Given the description of an element on the screen output the (x, y) to click on. 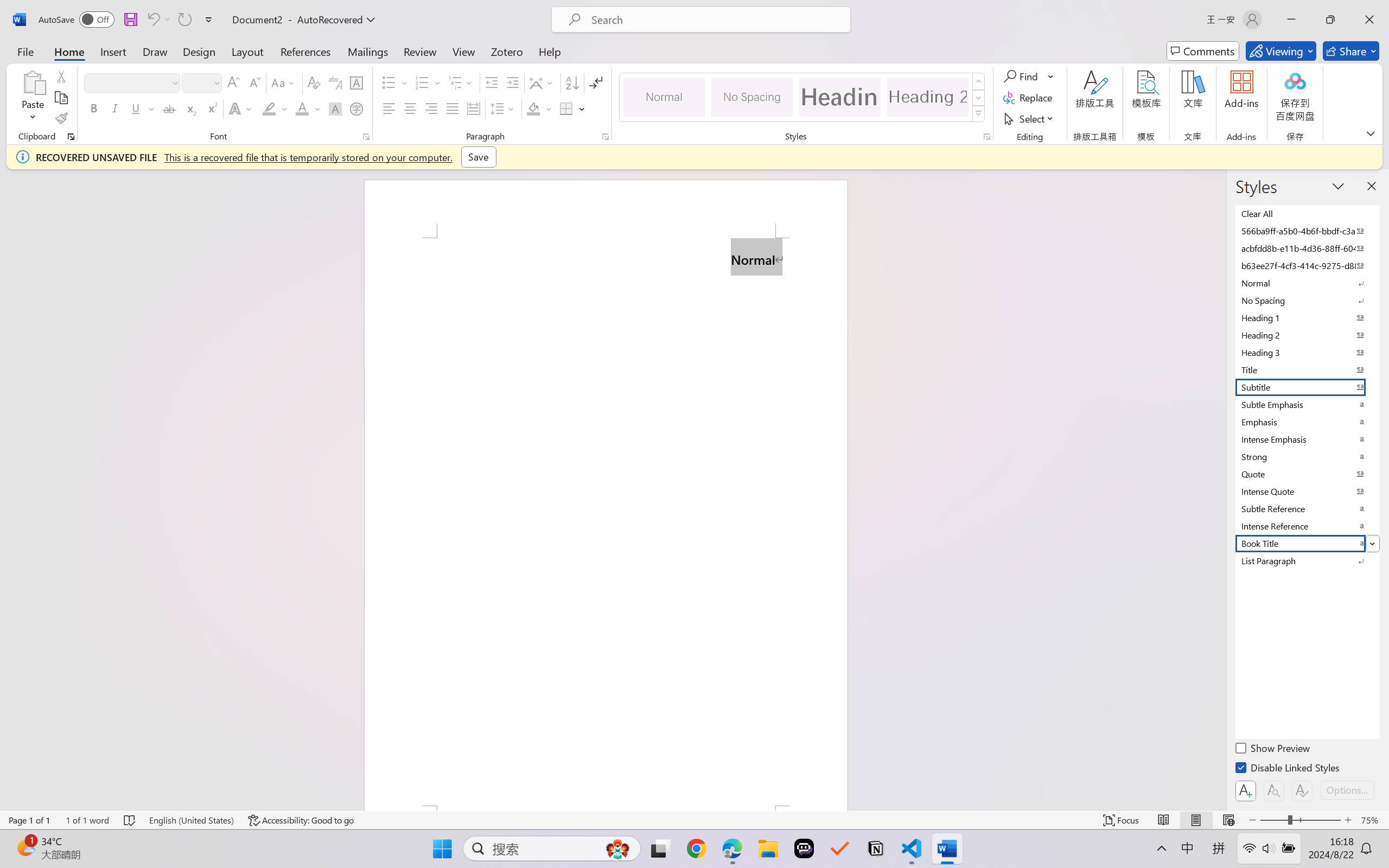
Subtle Reference (1306, 508)
Can't Repeat (184, 19)
Shading RGB(0, 0, 0) (533, 108)
Replace... (1029, 97)
Can't Undo (158, 19)
Text Highlight Color (274, 108)
Paragraph... (605, 136)
Cut (60, 75)
